Given the description of an element on the screen output the (x, y) to click on. 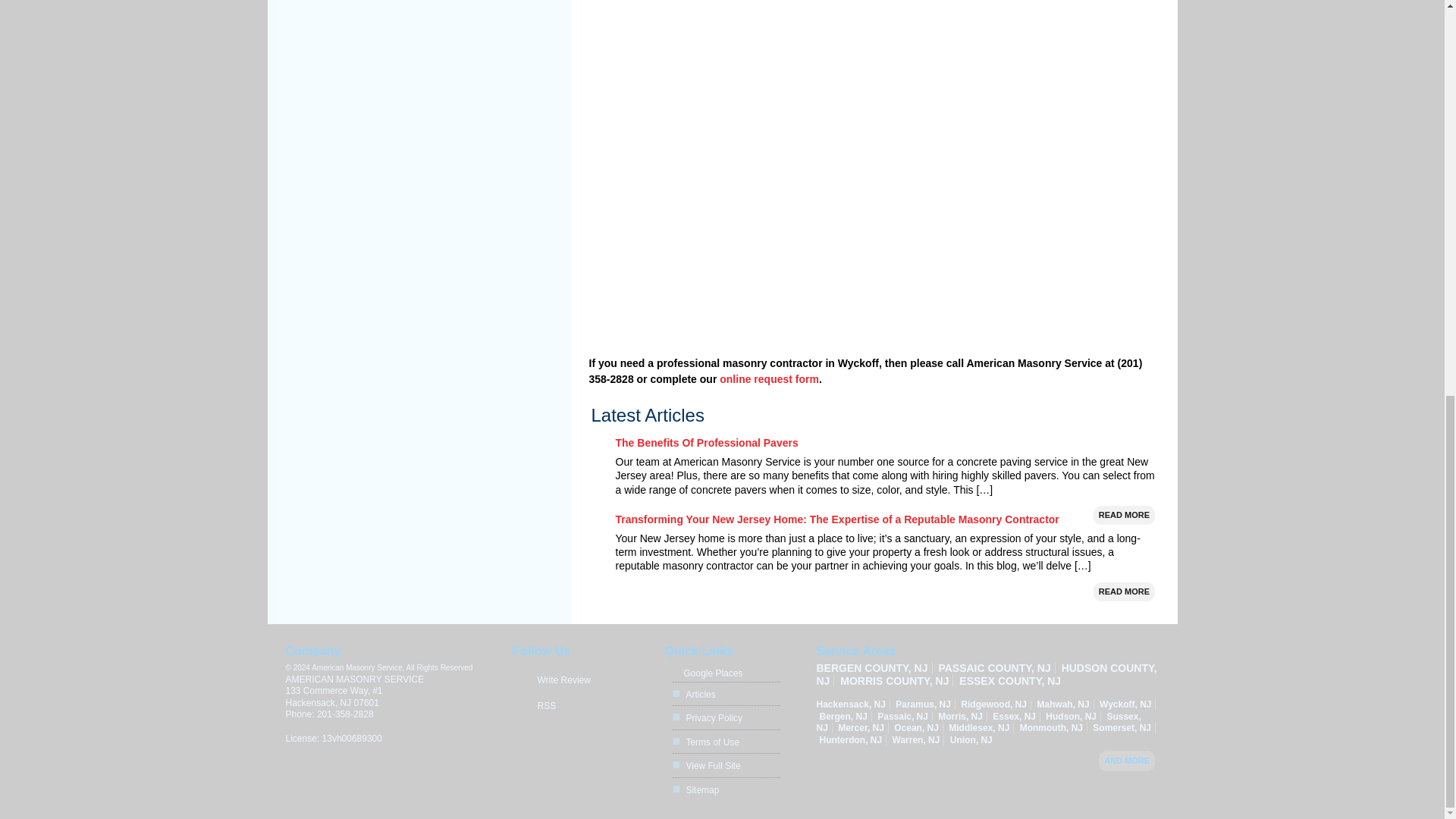
The Benefits Of Professional Pavers (706, 442)
online request form (768, 378)
READ MORE (1123, 591)
READ MORE (1123, 515)
